Given the description of an element on the screen output the (x, y) to click on. 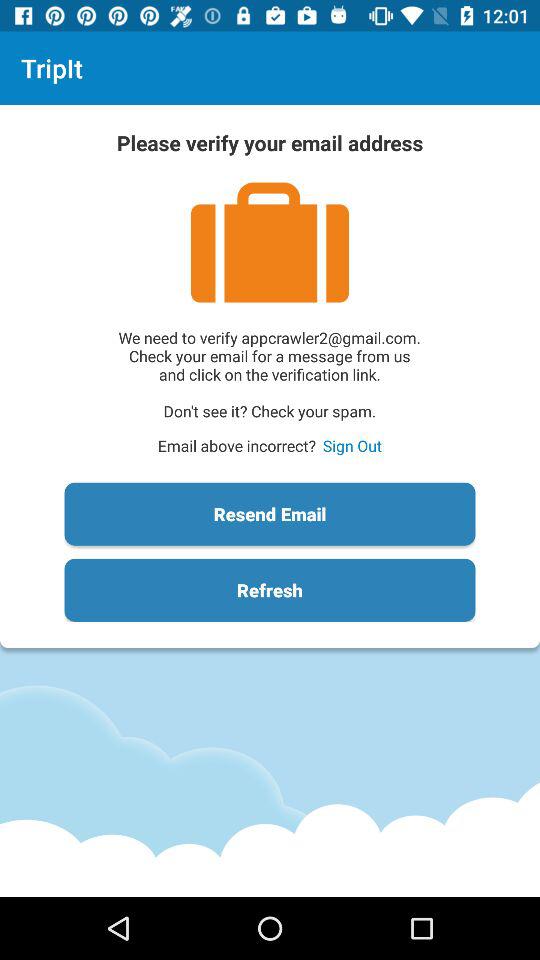
press item above the refresh (269, 513)
